Given the description of an element on the screen output the (x, y) to click on. 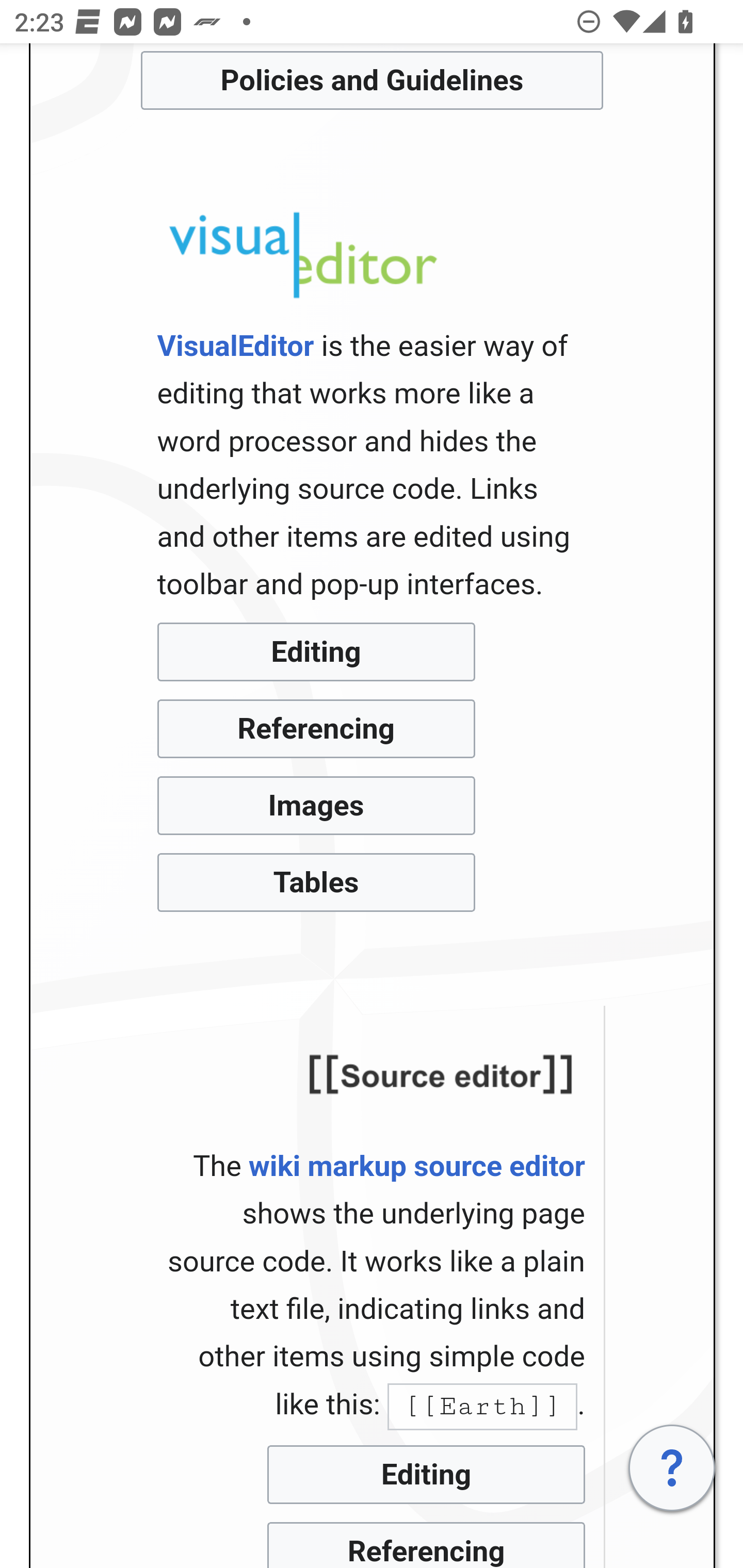
Policies and Guidelines (372, 80)
Wikipedia:VisualEditor/User guide (301, 255)
VisualEditor (235, 347)
Editing (316, 652)
Referencing (316, 728)
Images (316, 805)
Tables (316, 882)
Help:Wikitext (440, 1074)
wiki markup source editor (416, 1165)
Get help with editing (672, 1468)
Editing (426, 1474)
Referencing (426, 1544)
